Given the description of an element on the screen output the (x, y) to click on. 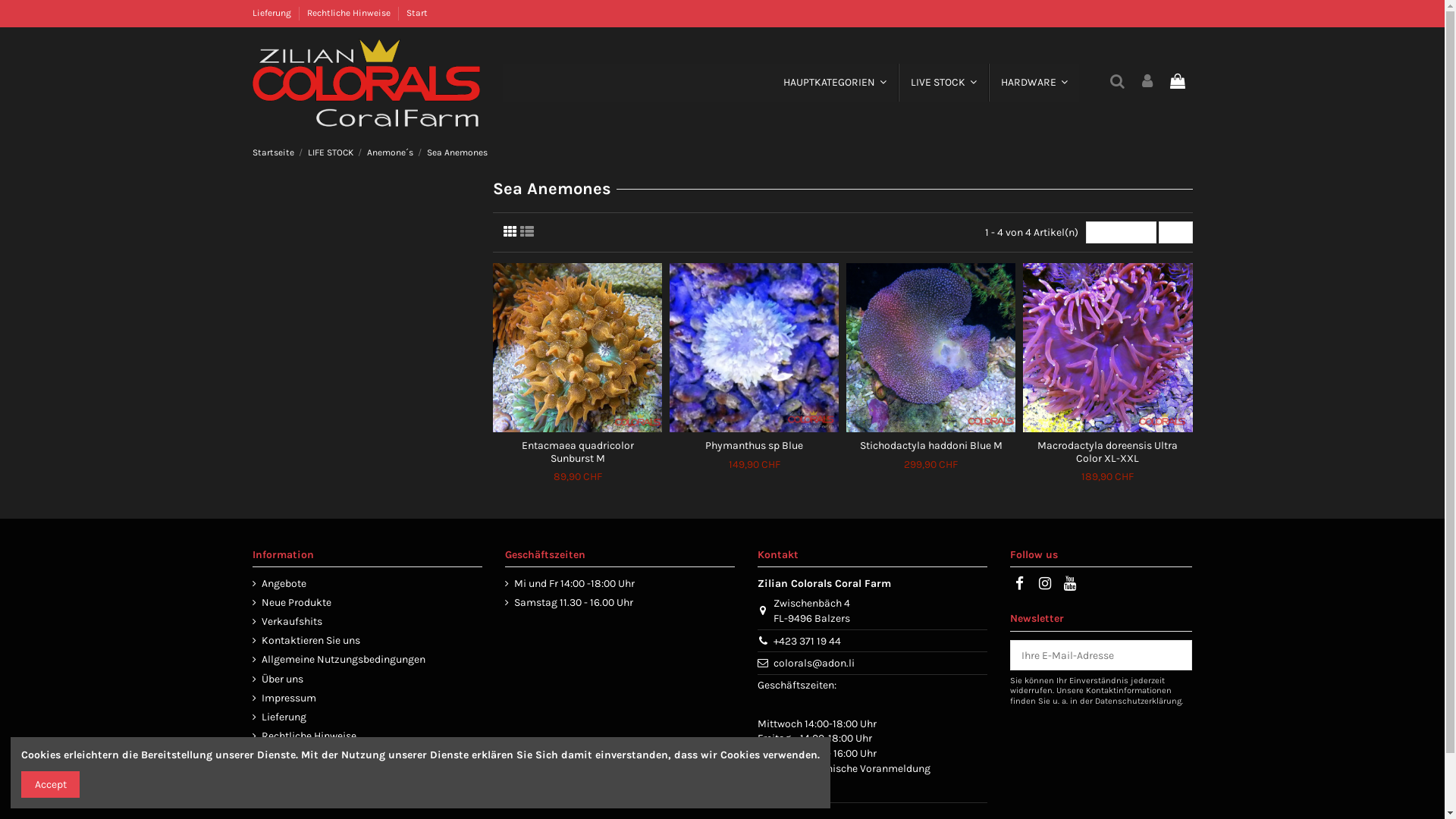
Kontaktieren Sie uns Element type: text (305, 640)
Anmelden zu Ihrem Kundenbereich Element type: hover (1147, 82)
Relevanz Element type: text (1120, 232)
149,90 CHF Element type: text (754, 464)
299,90 CHF Element type: text (930, 464)
Phymanthus sp Blue Element type: text (754, 445)
Lieferung Element type: text (271, 12)
Impressum Element type: text (283, 698)
Rechtliche Hinweise Element type: text (303, 735)
Rechtliche Hinweise Element type: text (349, 12)
4 Element type: text (1175, 232)
colorals@adon.li Element type: text (813, 662)
Lieferung Element type: text (278, 716)
Macrodactyla doreensis Ultra Color XL-XXL Element type: text (1107, 451)
Start Element type: text (416, 12)
HARDWARE Element type: text (1033, 82)
Accept Element type: text (50, 784)
Startseite Element type: text (272, 152)
Verkaufshits Element type: text (286, 621)
+423 371 19 44 Element type: text (806, 640)
Samstag 11.30 - 16.00 Uhr Element type: text (569, 602)
Allgemeine Nutzungsbedingungen Element type: text (337, 659)
HAUPTKATEGORIEN Element type: text (834, 82)
89,90 CHF Element type: text (577, 476)
Neue Produkte Element type: text (290, 602)
LIFE STOCK Element type: text (330, 152)
Sitemap Element type: text (276, 754)
Stichodactyla haddoni Blue M Element type: text (930, 445)
Angebote Element type: text (278, 583)
Entacmaea quadricolor Sunburst M Element type: text (577, 451)
189,90 CHF Element type: text (1107, 476)
Mi und Fr 14:00 -18:00 Uhr Element type: text (569, 583)
LIVE STOCK Element type: text (942, 82)
